Given the description of an element on the screen output the (x, y) to click on. 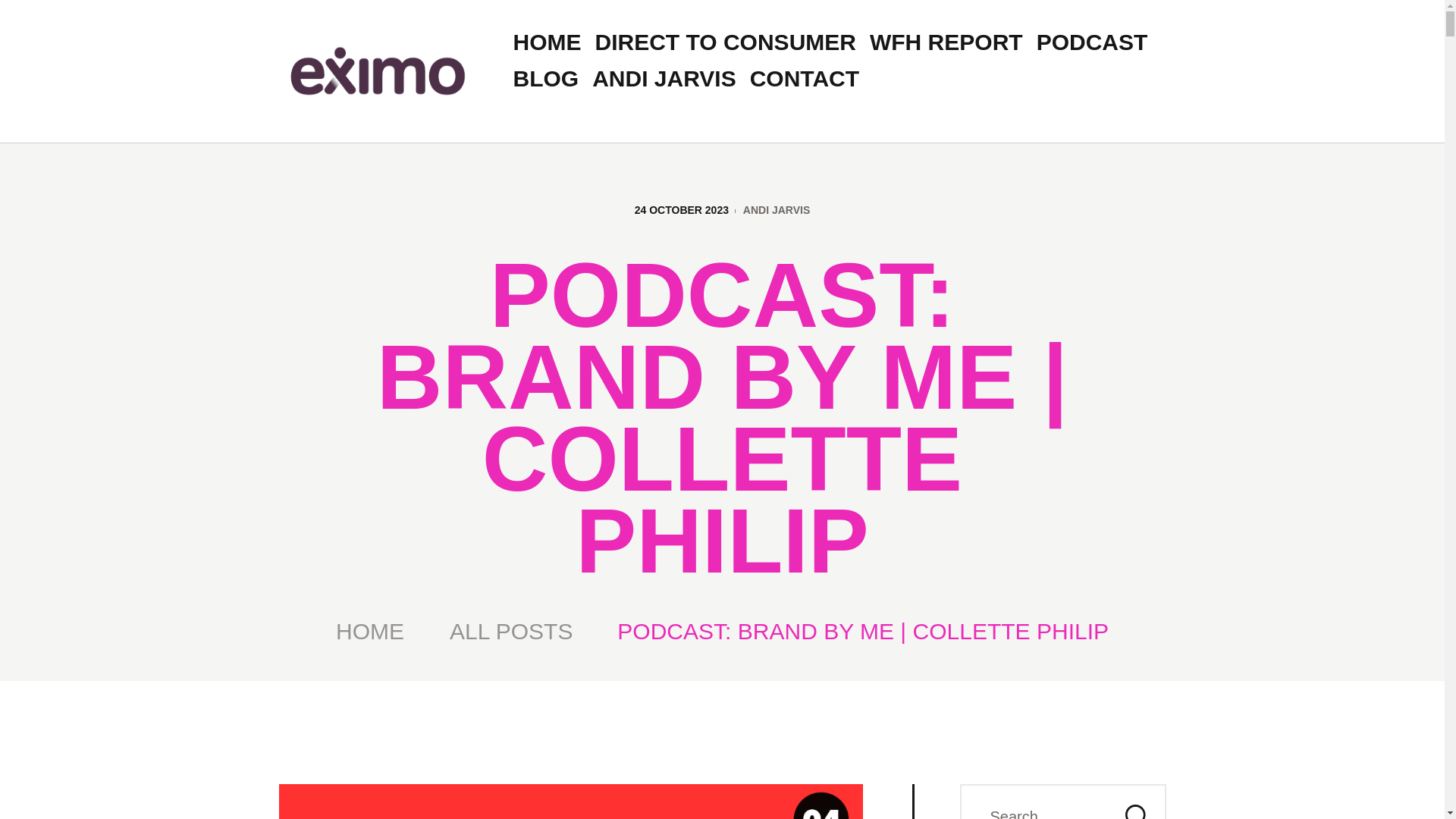
ALL POSTS (510, 631)
ANDI JARVIS (775, 209)
Search (1134, 801)
PODCAST (1091, 42)
WFH REPORT (946, 42)
HOME (547, 42)
DIRECT TO CONSUMER (725, 42)
CONTACT (804, 78)
HOME (370, 631)
ANDI JARVIS (663, 78)
BLOG (546, 78)
Search (1134, 801)
